Given the description of an element on the screen output the (x, y) to click on. 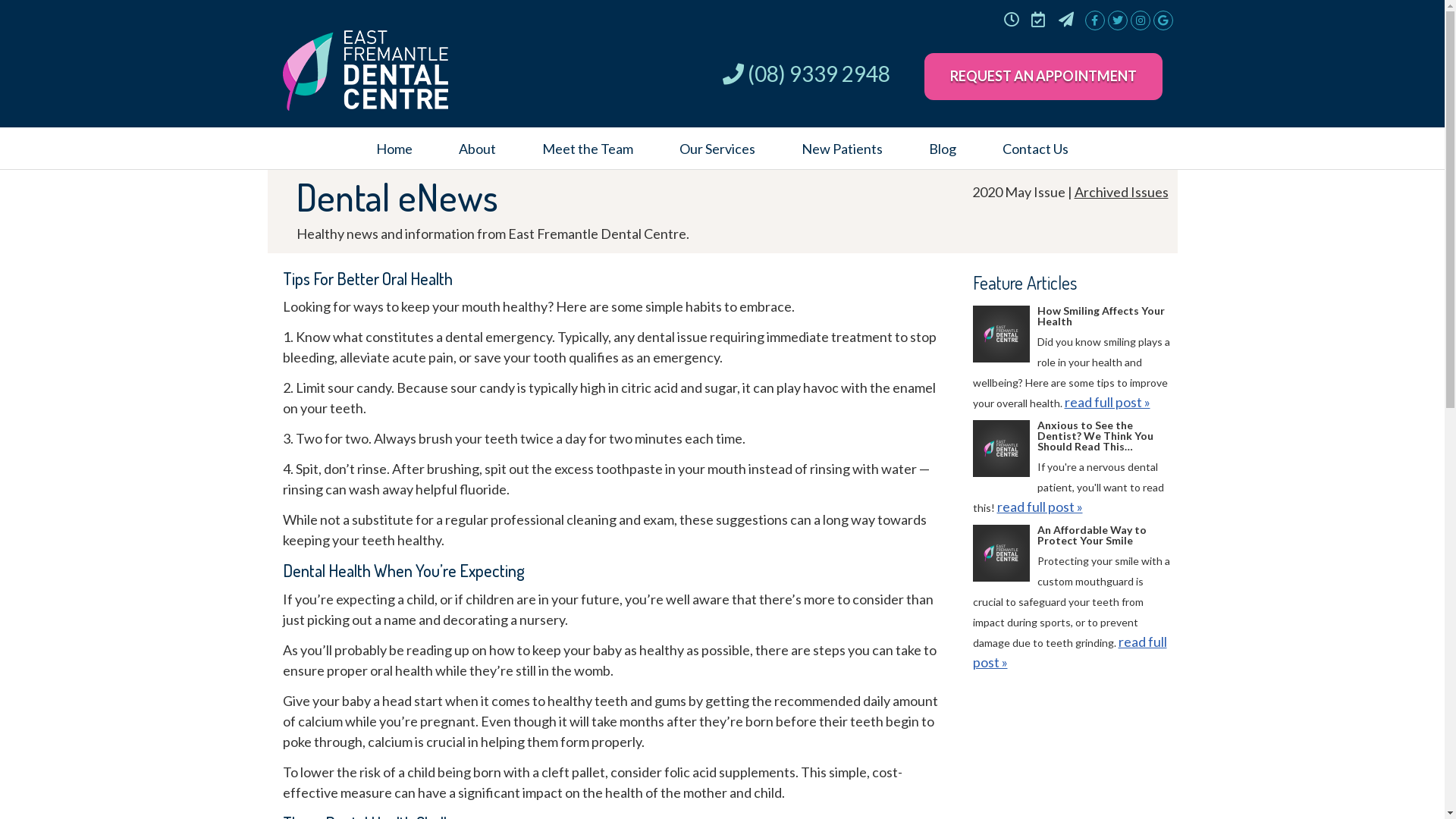
How Smiling Affects Your Health Element type: hover (1000, 336)
Facebook Social Button Element type: text (1093, 15)
Meet the Team Element type: text (586, 148)
REQUEST AN APPOINTMENT Element type: text (1042, 76)
Twitter Social Button Element type: text (1116, 15)
Home Element type: text (394, 148)
Google Social Button Element type: text (1161, 15)
An Affordable Way to Protect Your Smile Element type: hover (1000, 555)
Contact Us Element type: text (1035, 148)
New Patients Element type: text (841, 148)
About Element type: text (476, 148)
Archived Issues Element type: text (1120, 191)
REQUEST APPOINTMENT Element type: text (1038, 18)
EMAIL US Element type: text (1065, 18)
Blog Element type: text (942, 148)
East Fremantle Dental Centre Element type: text (364, 105)
Instagram Social Button Element type: text (1138, 15)
Our Services Element type: text (717, 148)
OFFICE HOURS Element type: text (1010, 18)
